Given the description of an element on the screen output the (x, y) to click on. 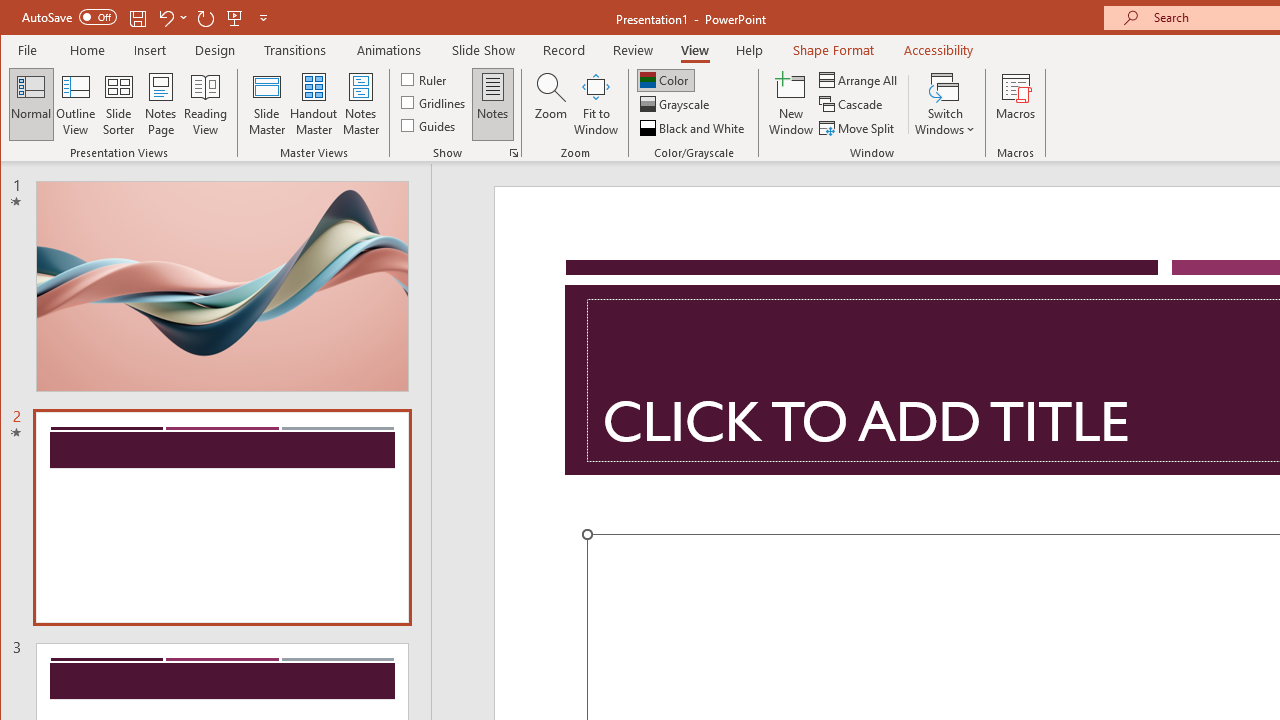
Grid Settings... (513, 152)
Notes Page (160, 104)
Move Split (858, 127)
